Given the description of an element on the screen output the (x, y) to click on. 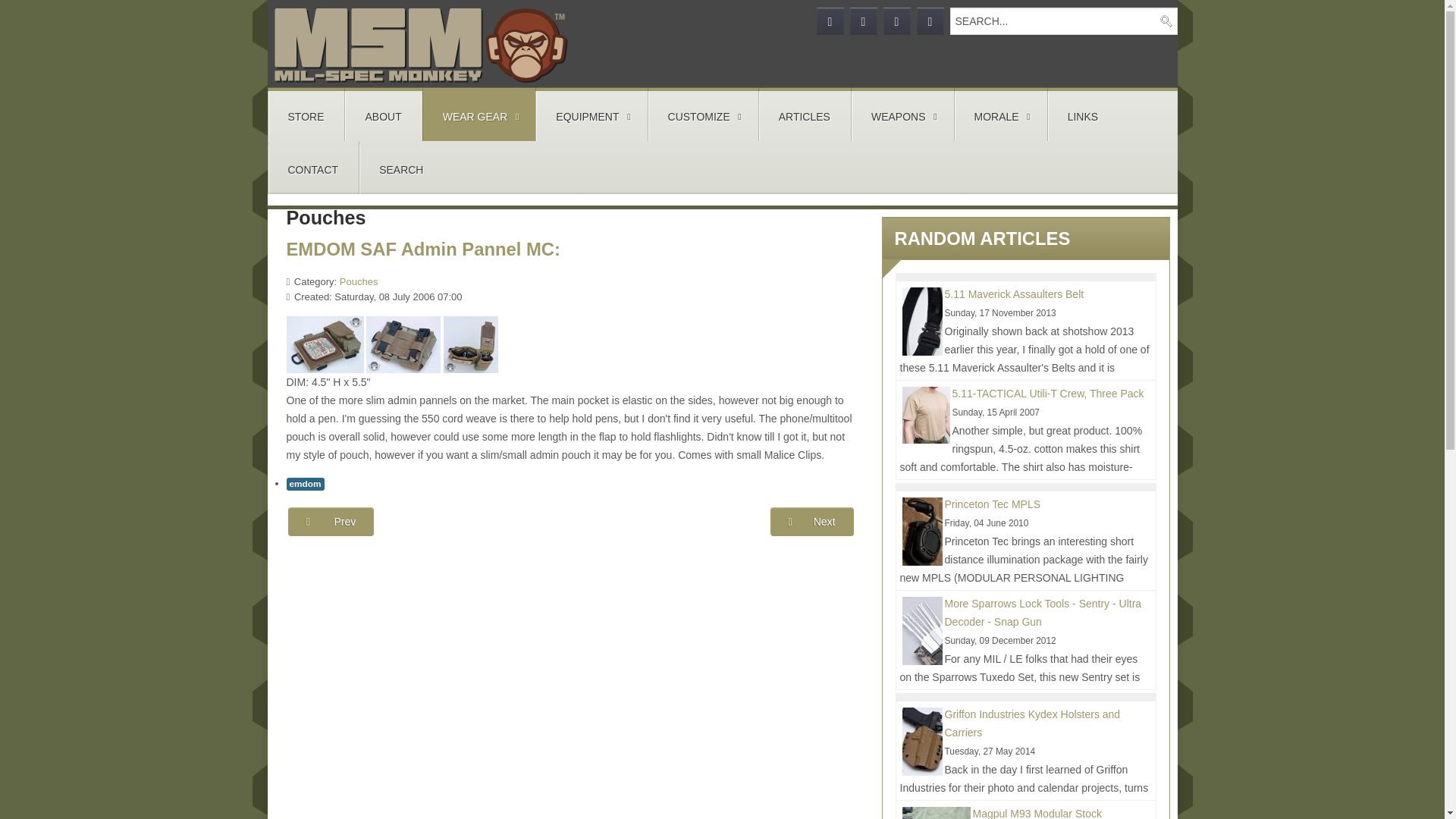
ARTICLES (804, 115)
EQUIPMENT (590, 115)
WEAPONS (902, 115)
WEAR GEAR (479, 115)
CUSTOMIZE (702, 115)
STORE (305, 115)
ABOUT (382, 115)
